Given the description of an element on the screen output the (x, y) to click on. 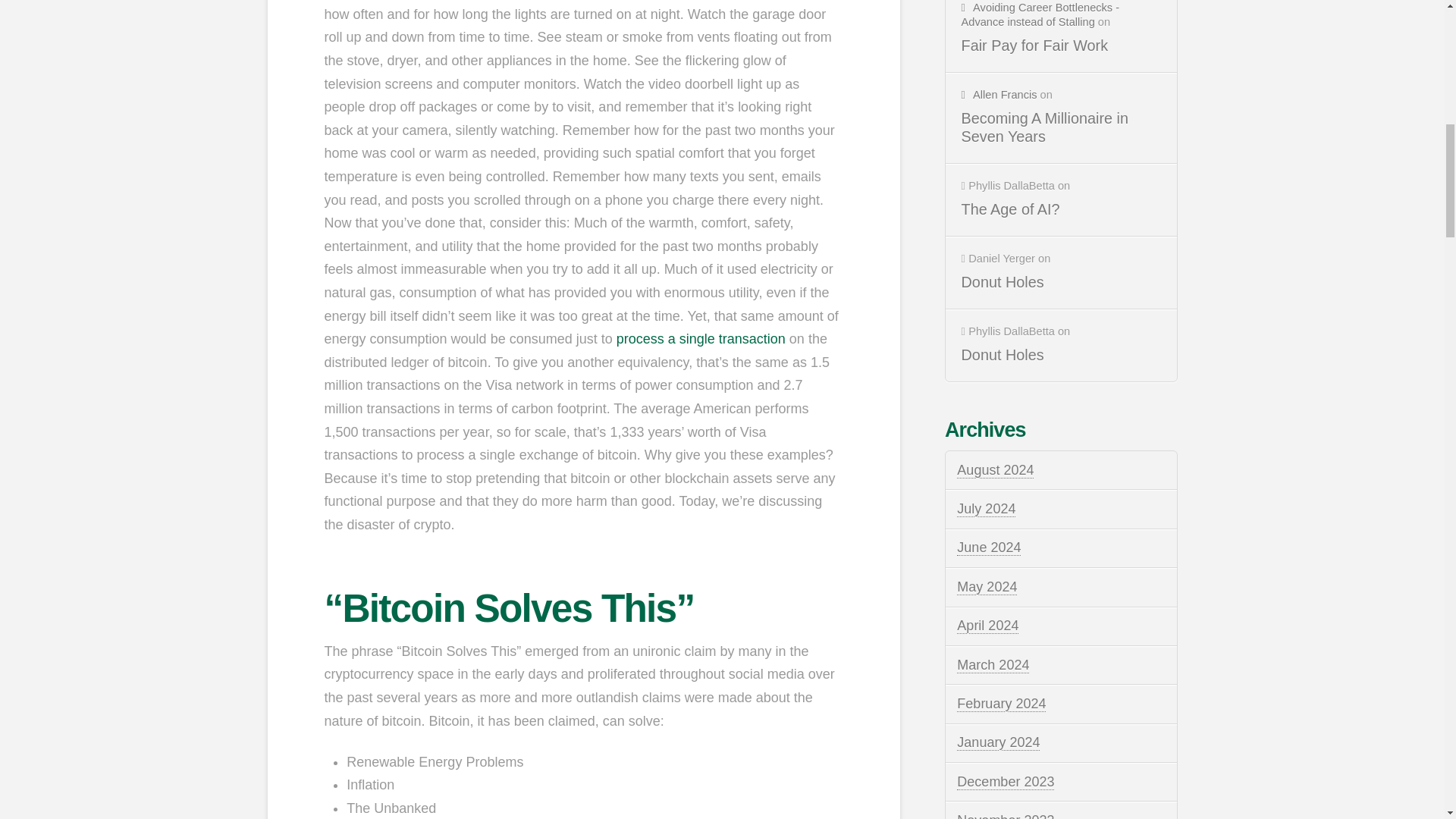
Becoming A Millionaire in Seven Years (1060, 127)
Allen Francis (998, 94)
Avoiding Career Bottlenecks - Advance instead of Stalling (1039, 14)
process a single transaction (700, 338)
Fair Pay for Fair Work (1060, 45)
